Given the description of an element on the screen output the (x, y) to click on. 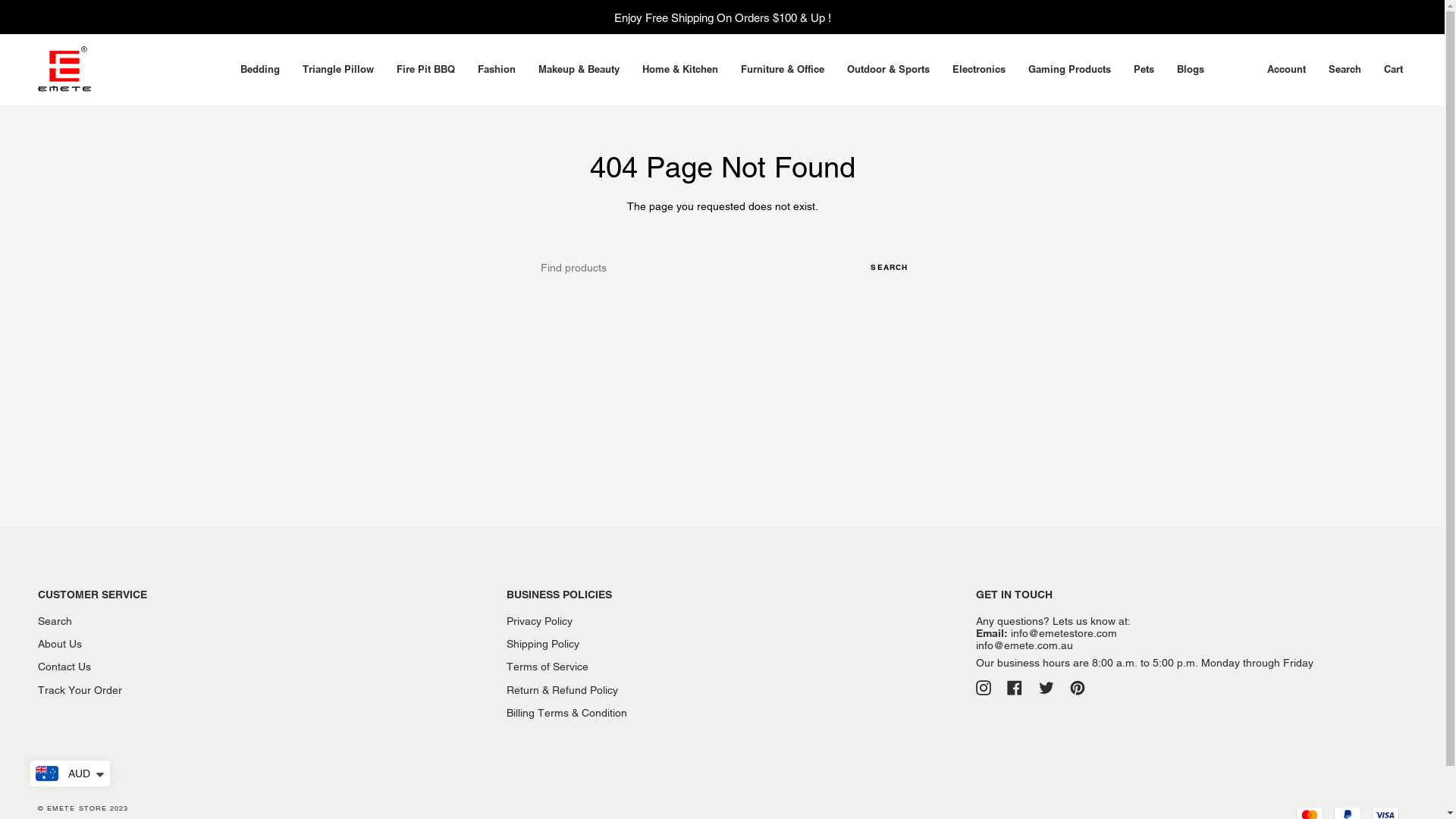
Search Element type: text (54, 621)
Triangle Pillow Element type: text (338, 69)
Furniture & Office Element type: text (782, 69)
Pinterest Element type: text (1077, 686)
Fire Pit BBQ Element type: text (425, 69)
Electronics Element type: text (978, 69)
Outdoor & Sports Element type: text (888, 69)
Fashion Element type: text (496, 69)
Bedding Element type: text (260, 69)
Shipping Policy Element type: text (542, 643)
Terms of Service Element type: text (547, 666)
Contact Us Element type: text (64, 666)
Twitter Element type: text (1046, 686)
Facebook Element type: text (1014, 686)
Return & Refund Policy Element type: text (562, 690)
Privacy Policy Element type: text (539, 621)
SEARCH Element type: text (888, 267)
Home & Kitchen Element type: text (679, 69)
About Us Element type: text (59, 643)
Track Your Order Element type: text (79, 690)
Search Element type: text (1344, 69)
Blogs Element type: text (1190, 69)
Instagram Element type: text (983, 686)
Cart Element type: text (1393, 69)
Account Element type: text (1286, 69)
Pets Element type: text (1143, 69)
Billing Terms & Condition Element type: text (566, 712)
Gaming Products Element type: text (1069, 69)
Makeup & Beauty Element type: text (578, 69)
